Given the description of an element on the screen output the (x, y) to click on. 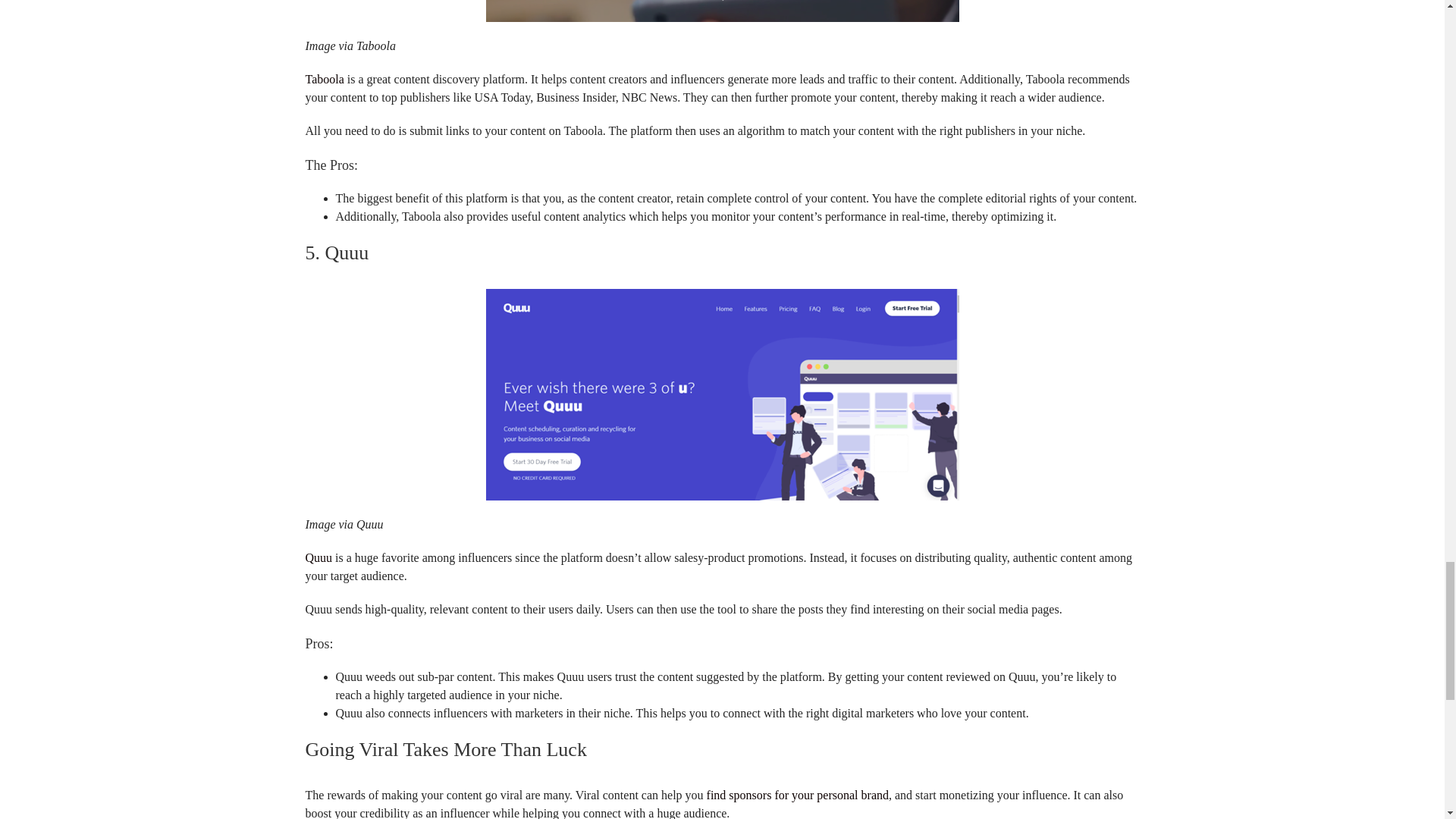
Taboola (323, 78)
find sponsors for your personal brand (797, 794)
Quuu (317, 557)
